Given the description of an element on the screen output the (x, y) to click on. 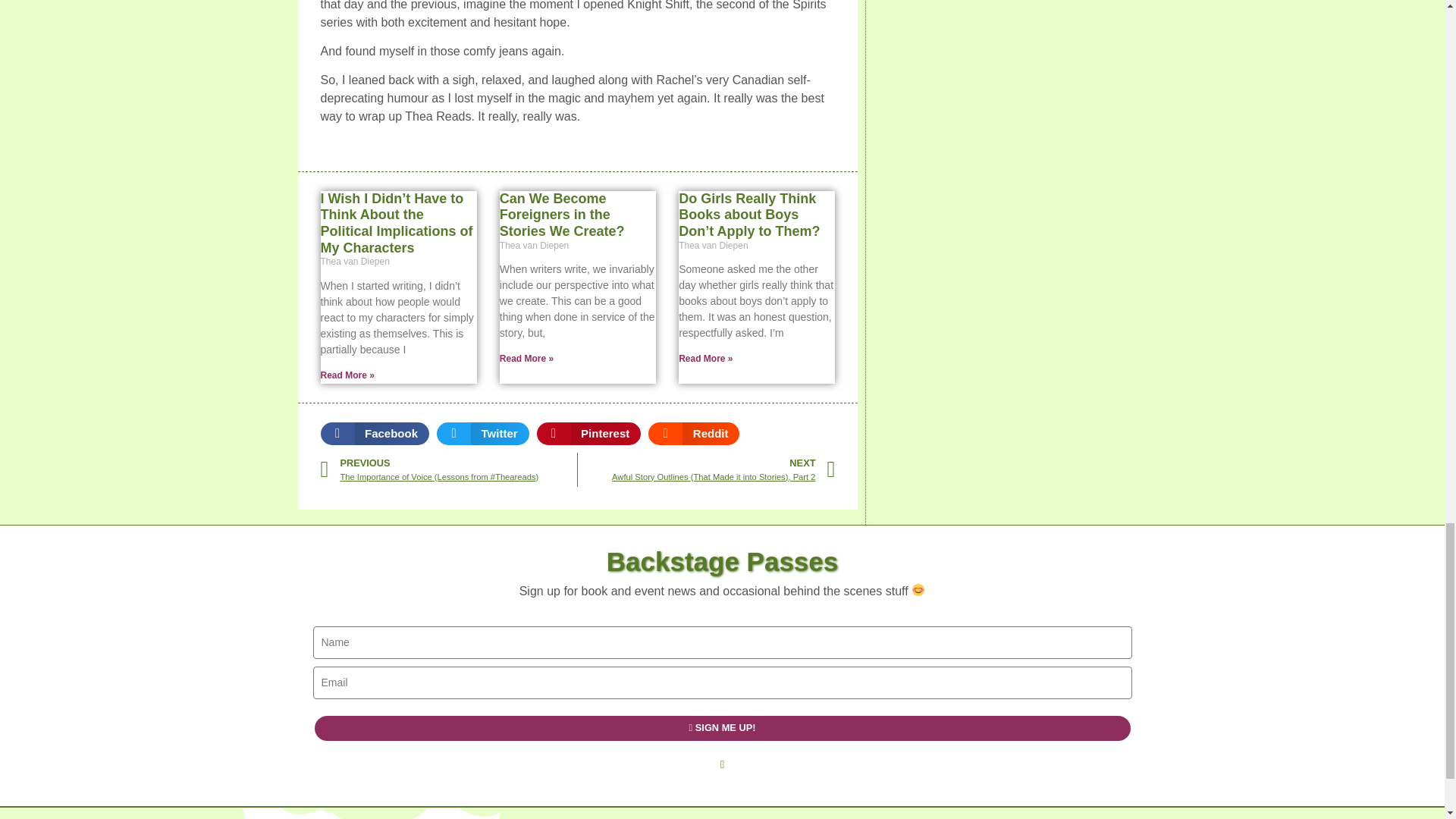
Can We Become Foreigners in the Stories We Create? (561, 214)
